Given the description of an element on the screen output the (x, y) to click on. 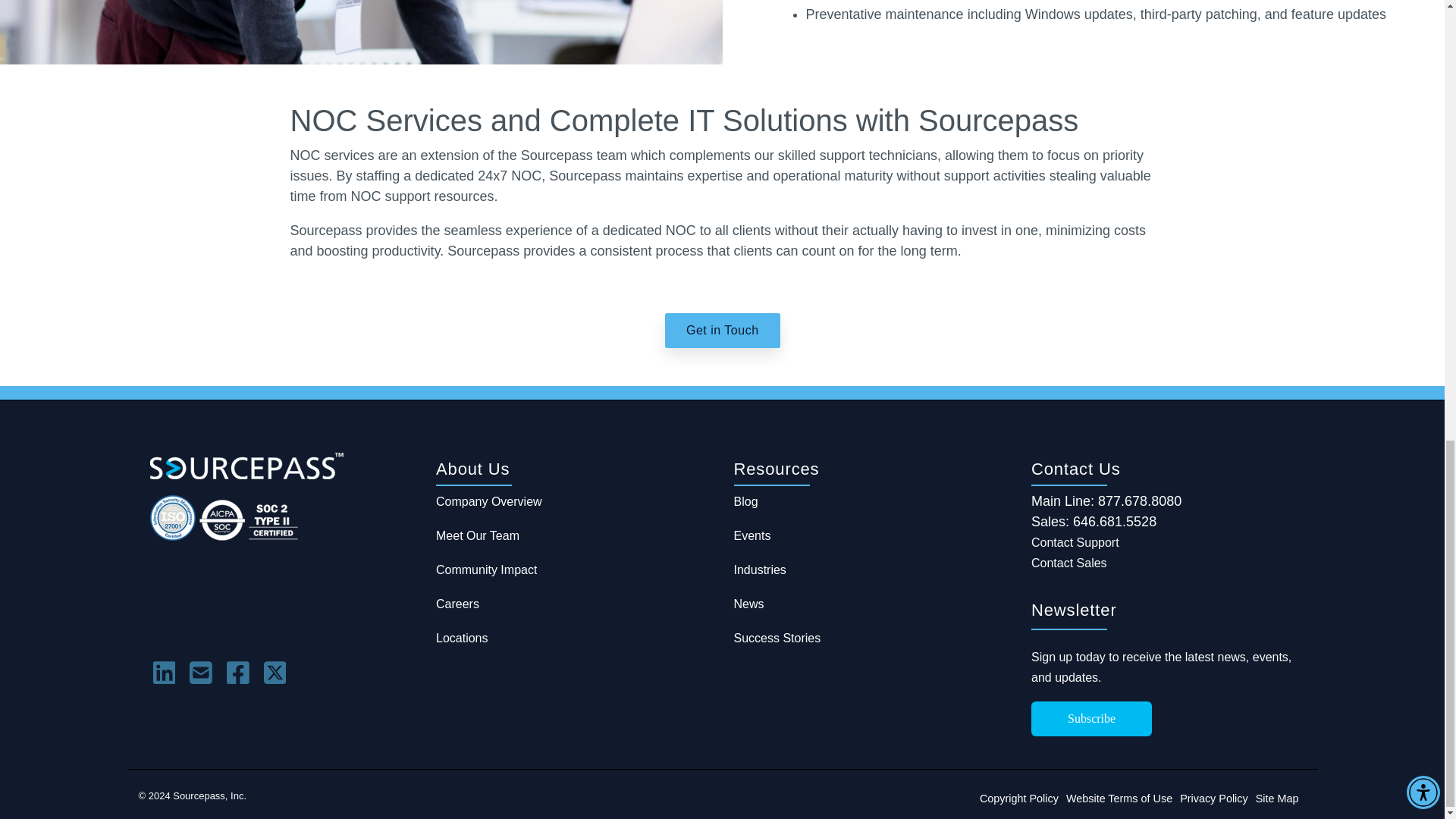
Subscribe (1090, 718)
